Given the description of an element on the screen output the (x, y) to click on. 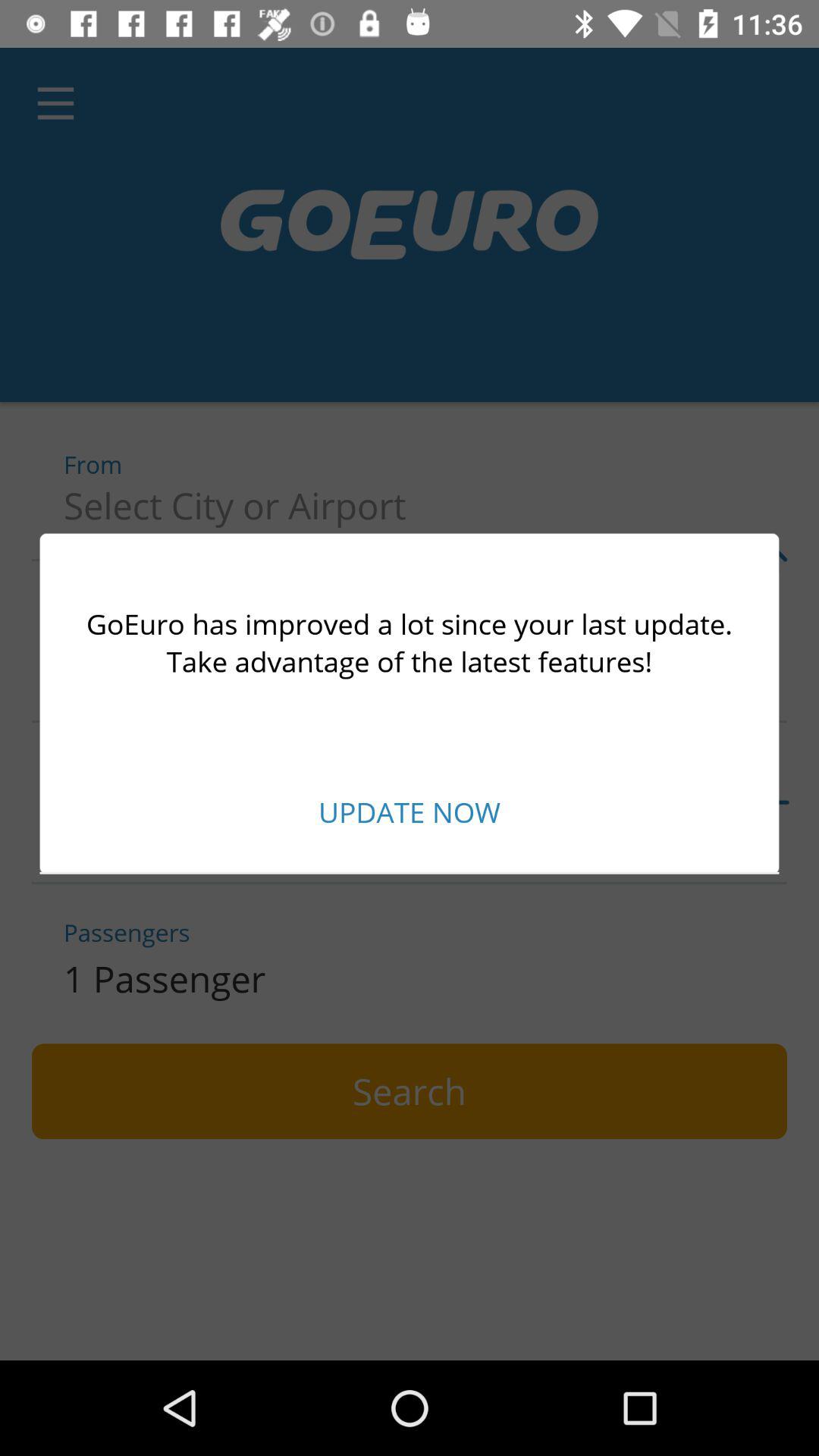
swipe to the update now item (409, 811)
